Given the description of an element on the screen output the (x, y) to click on. 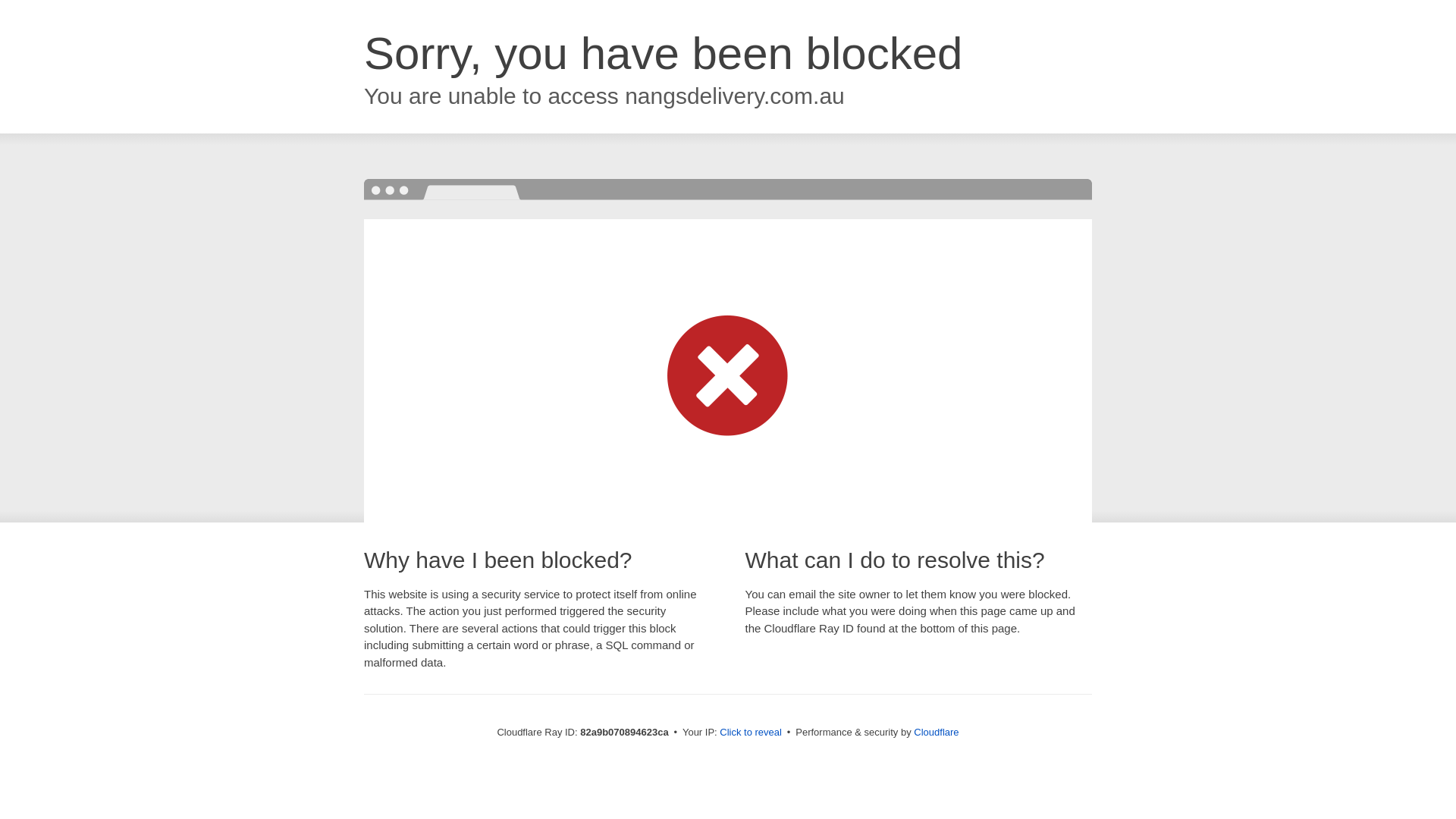
Click to reveal Element type: text (750, 732)
Cloudflare Element type: text (935, 731)
